Given the description of an element on the screen output the (x, y) to click on. 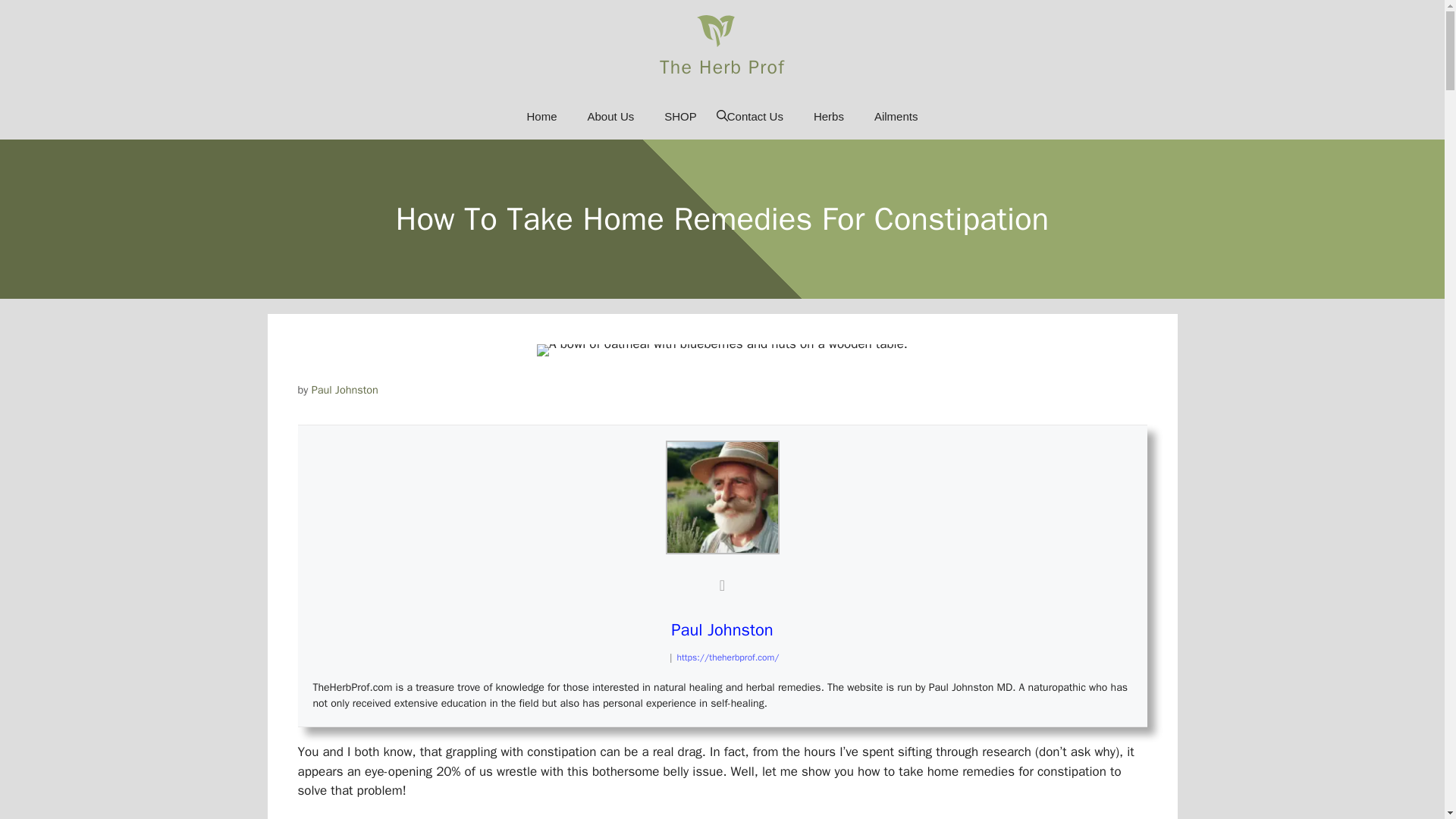
About Us (610, 116)
Ailments (896, 116)
The Herb Prof (721, 65)
Herbs (828, 116)
SHOP (680, 116)
Home (541, 116)
Paul Johnston (722, 629)
View all posts by Paul Johnston (344, 389)
Paul Johnston (344, 389)
Contact Us (754, 116)
